Given the description of an element on the screen output the (x, y) to click on. 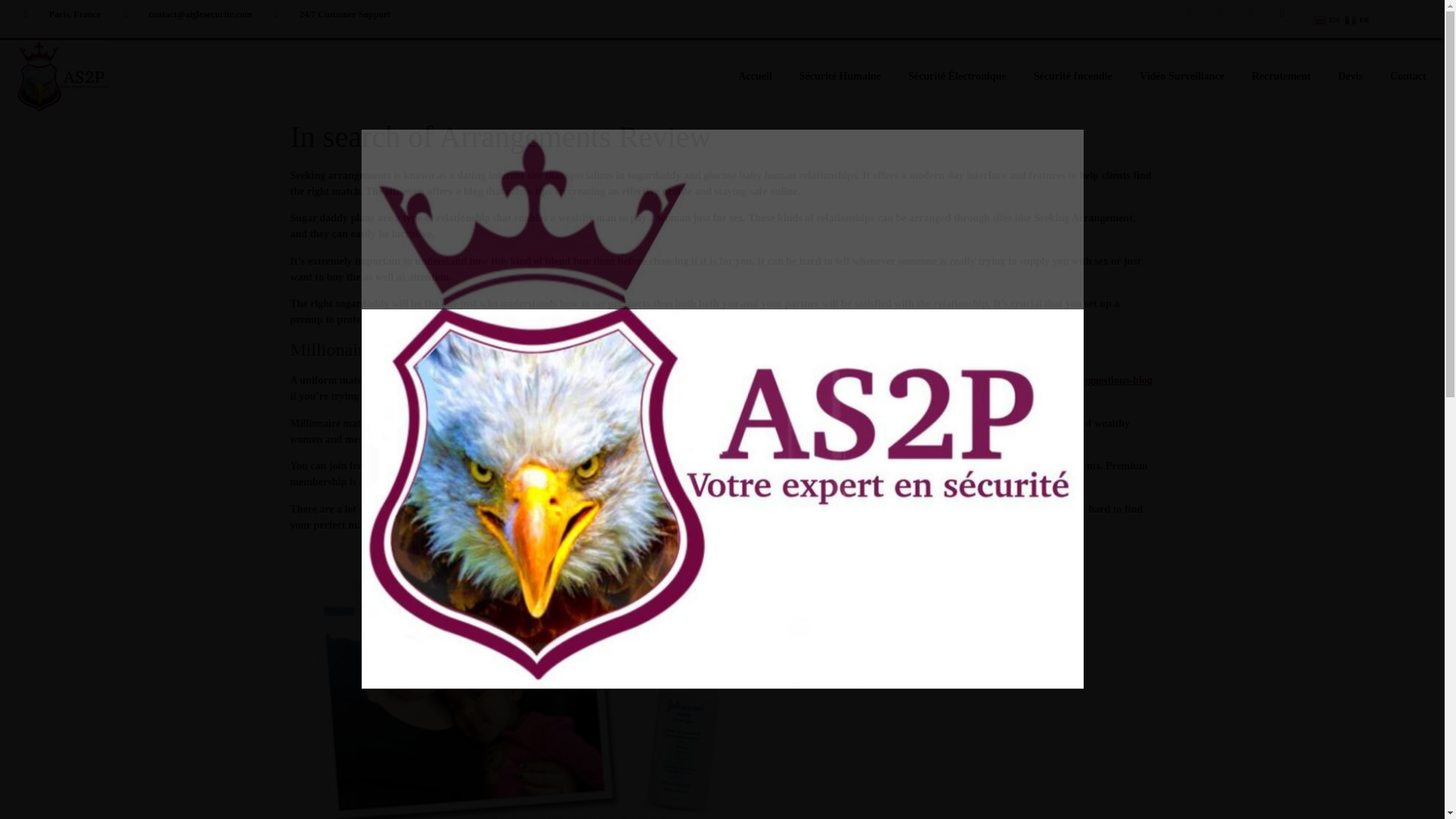
French (1357, 19)
sugar lifestyle (1006, 423)
EN (1327, 19)
Devis (1349, 76)
FR (1357, 19)
Accueil (755, 76)
Contact (1407, 76)
English (1327, 19)
Recrutement (1281, 76)
